Given the description of an element on the screen output the (x, y) to click on. 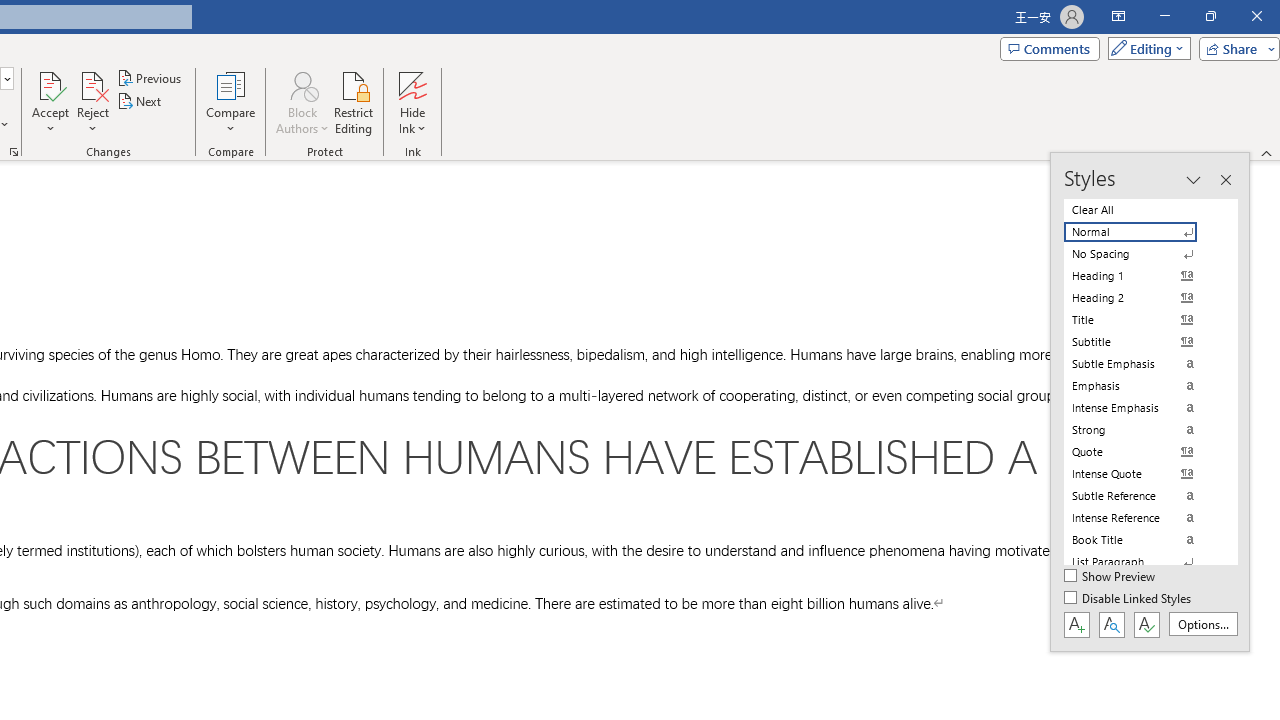
Subtle Reference (1142, 495)
Class: NetUIButton (1146, 624)
No Spacing (1142, 253)
